Given the description of an element on the screen output the (x, y) to click on. 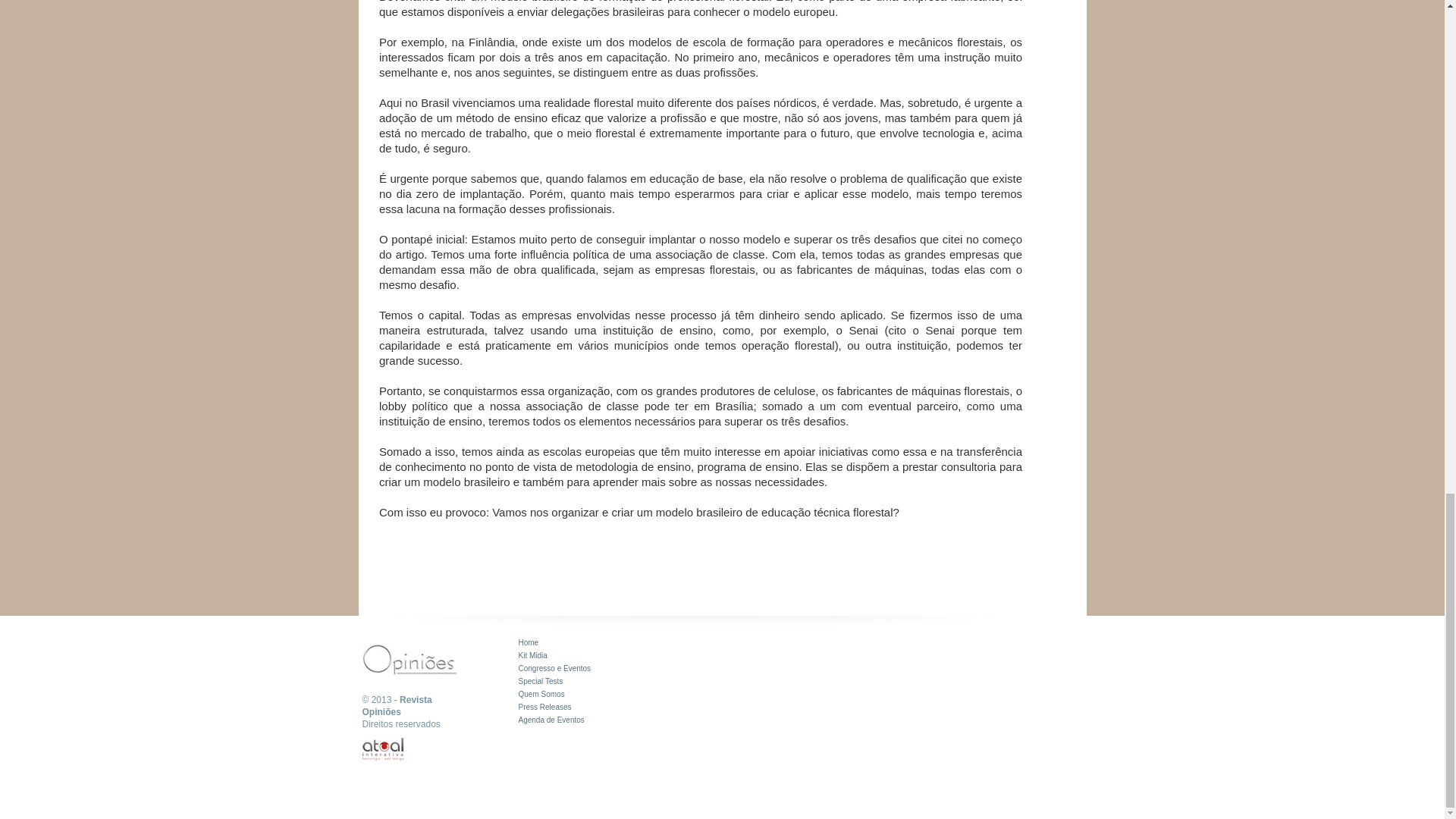
Direitos reservados (401, 724)
Home (528, 642)
atual interativa (383, 748)
